Given the description of an element on the screen output the (x, y) to click on. 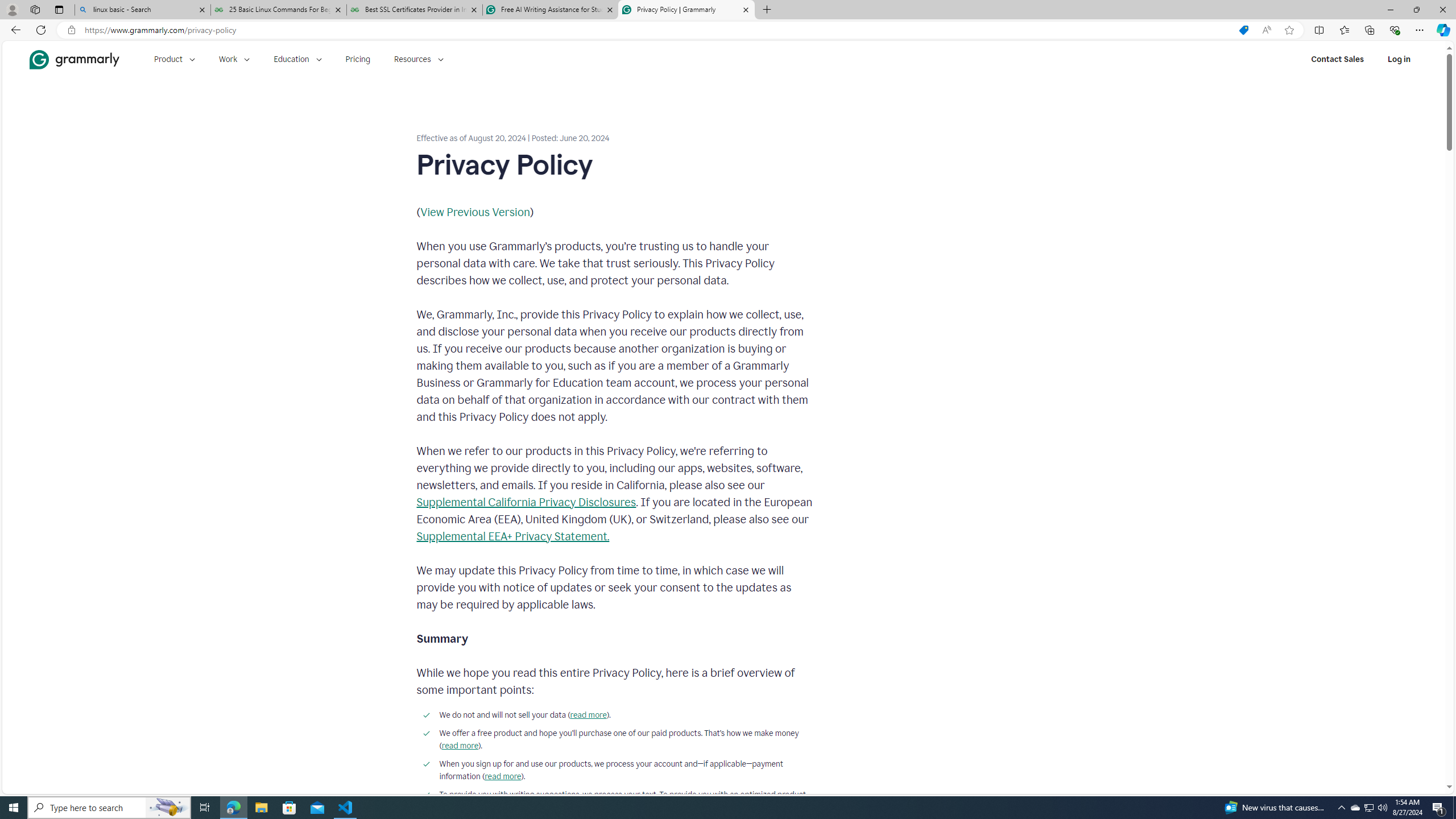
read more (502, 776)
Work (234, 58)
Resources (419, 58)
Pricing (357, 58)
Log in (1399, 58)
Education (297, 58)
Privacy Policy | Grammarly (685, 9)
